Given the description of an element on the screen output the (x, y) to click on. 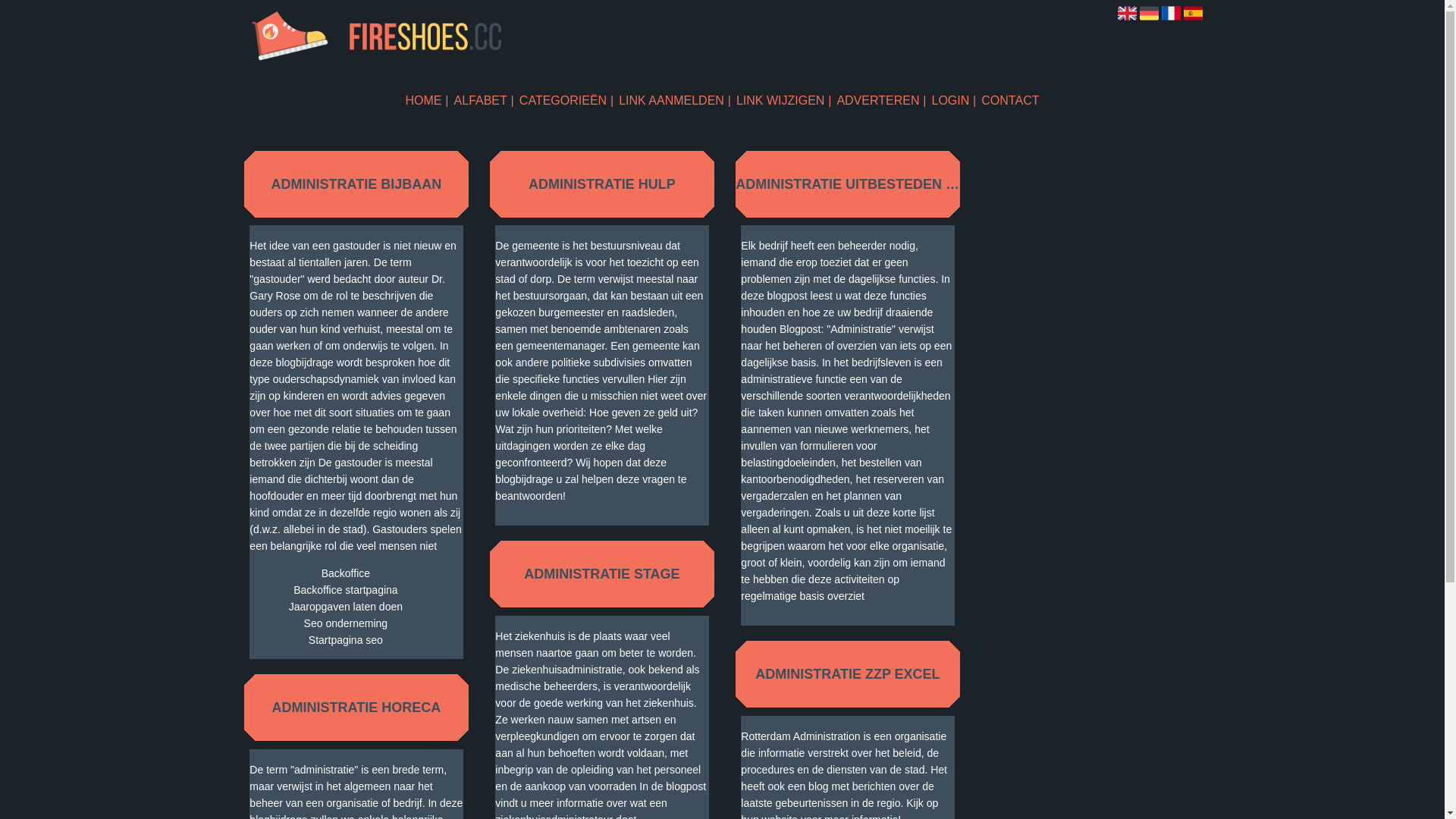
Startpagina seo Element type: text (345, 639)
LINK WIJZIGEN Element type: text (783, 100)
CONTACT Element type: text (1009, 100)
LINK AANMELDEN Element type: text (674, 100)
ALFABET Element type: text (484, 100)
Backoffice Element type: text (345, 572)
ADVERTEREN Element type: text (880, 100)
HOME Element type: text (426, 100)
LOGIN Element type: text (953, 100)
Backoffice startpagina Element type: text (345, 589)
Seo onderneming Element type: text (345, 623)
Jaaropgaven laten doen Element type: text (345, 606)
